Given the description of an element on the screen output the (x, y) to click on. 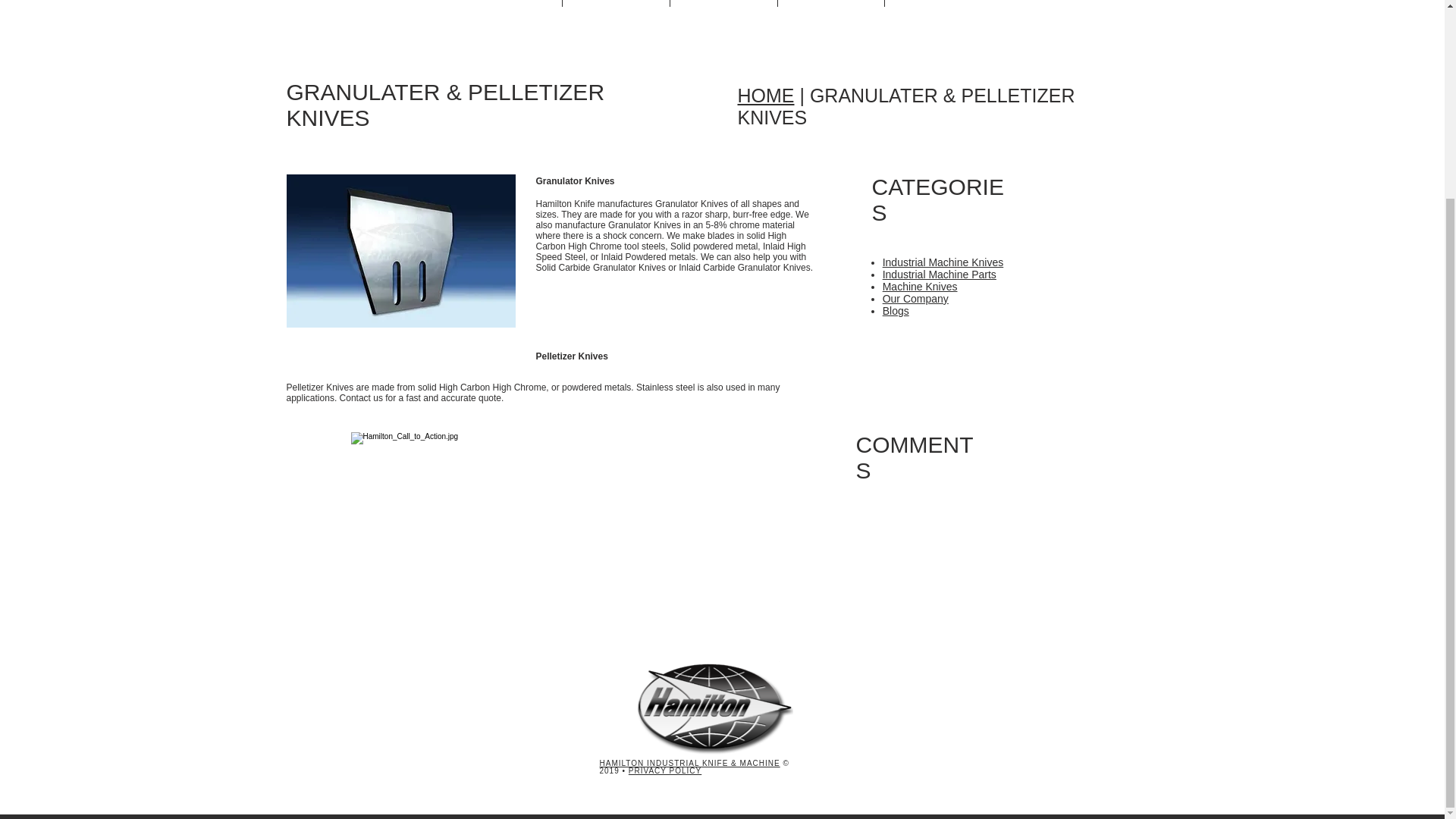
HOME (764, 95)
SERVICES (830, 3)
ABOUT (615, 3)
Home (506, 3)
PRIVACY POLICY (664, 770)
Our Company (915, 298)
PRODUCTS (723, 3)
Machine Knives (920, 286)
Blogs (895, 310)
Industrial Machine Parts (938, 274)
Industrial Machine Knives (943, 262)
